Given the description of an element on the screen output the (x, y) to click on. 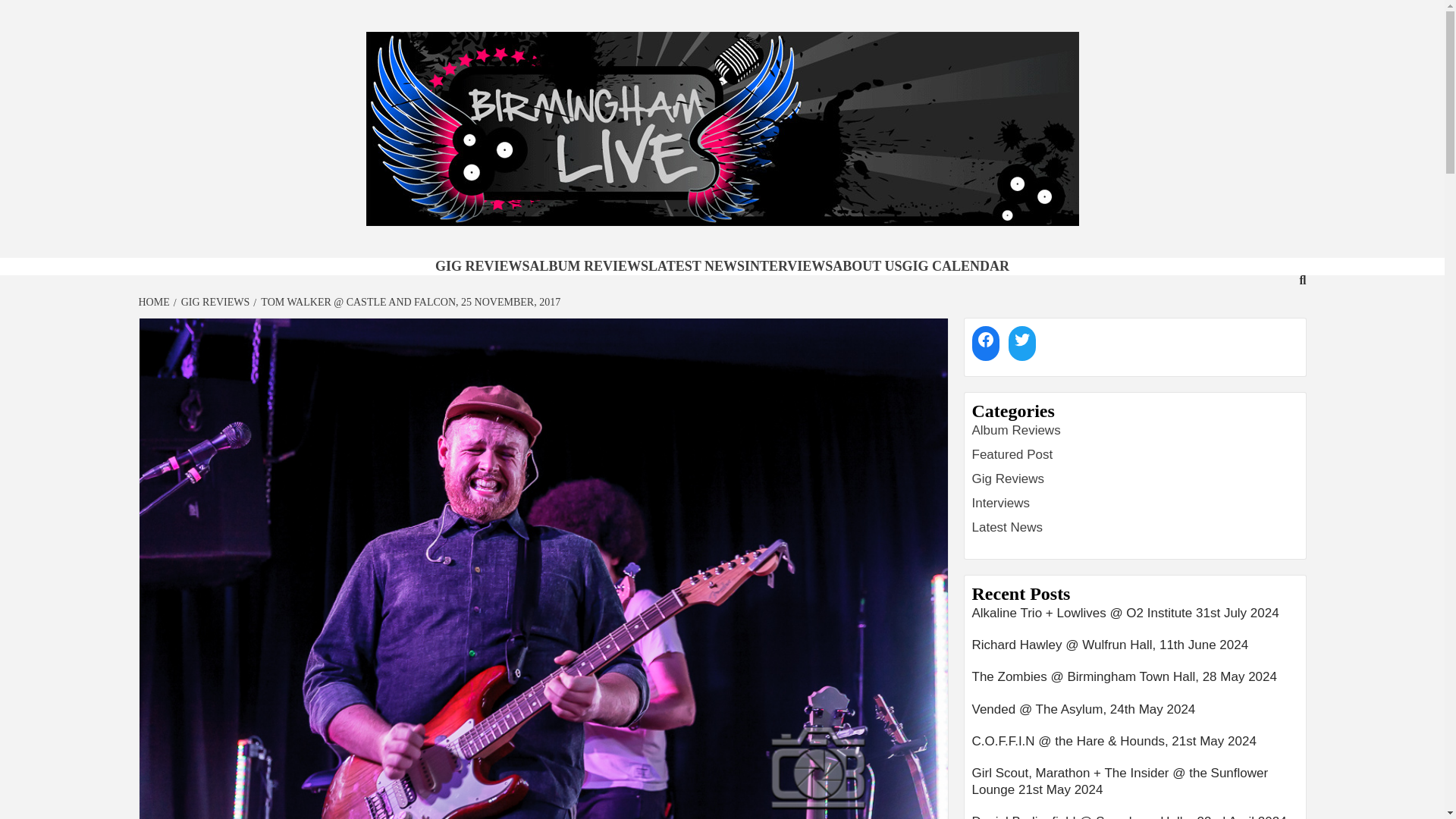
Latest News (1007, 527)
Album Reviews (1016, 430)
HOME (155, 301)
LATEST NEWS (695, 265)
ABOUT US (866, 265)
Interviews (1001, 503)
GIG REVIEWS (482, 265)
Twitter (1022, 338)
Featured Post (1012, 454)
INTERVIEWS (788, 265)
